Given the description of an element on the screen output the (x, y) to click on. 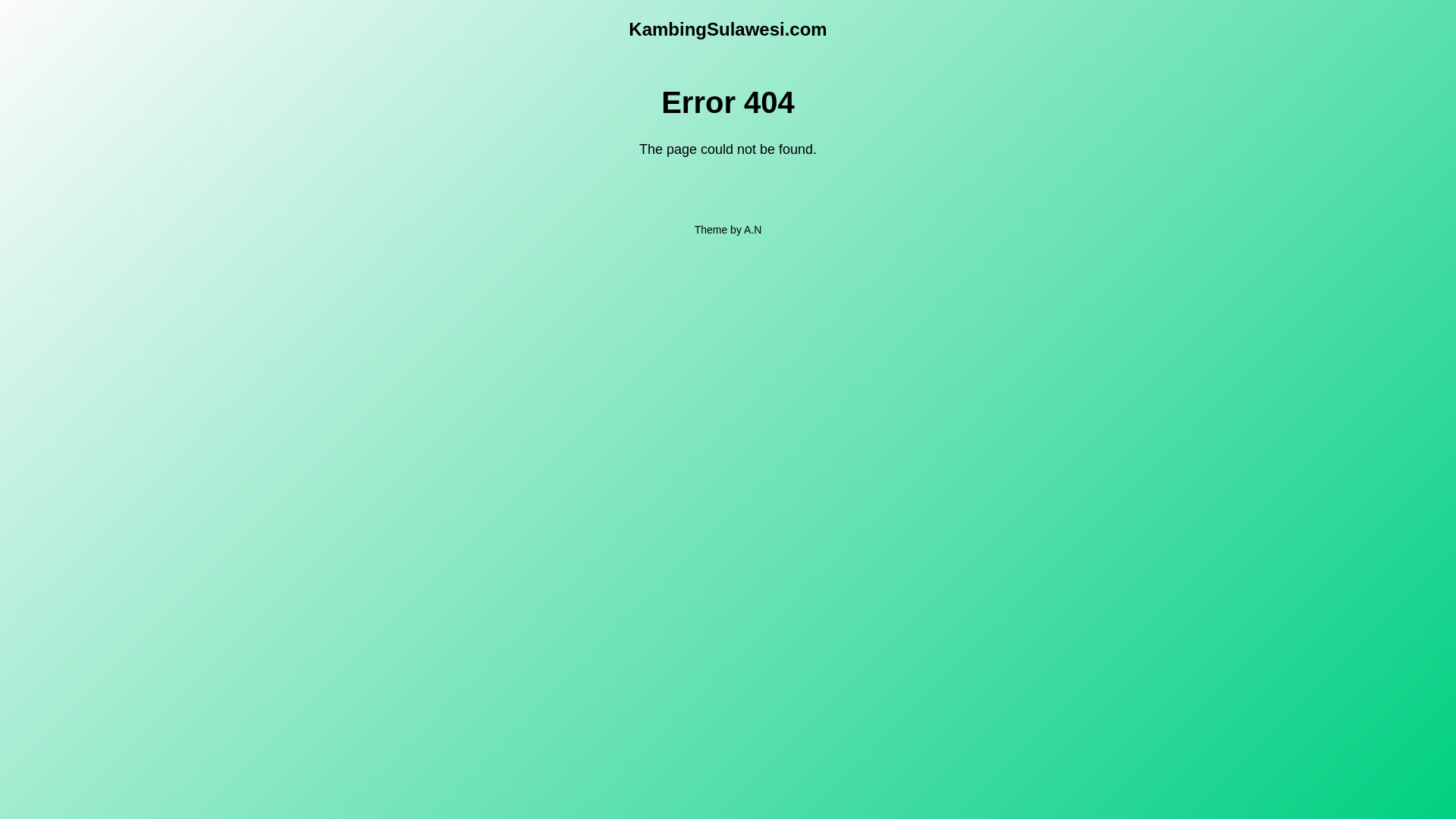
KambingSulawesi.com (727, 28)
